Given the description of an element on the screen output the (x, y) to click on. 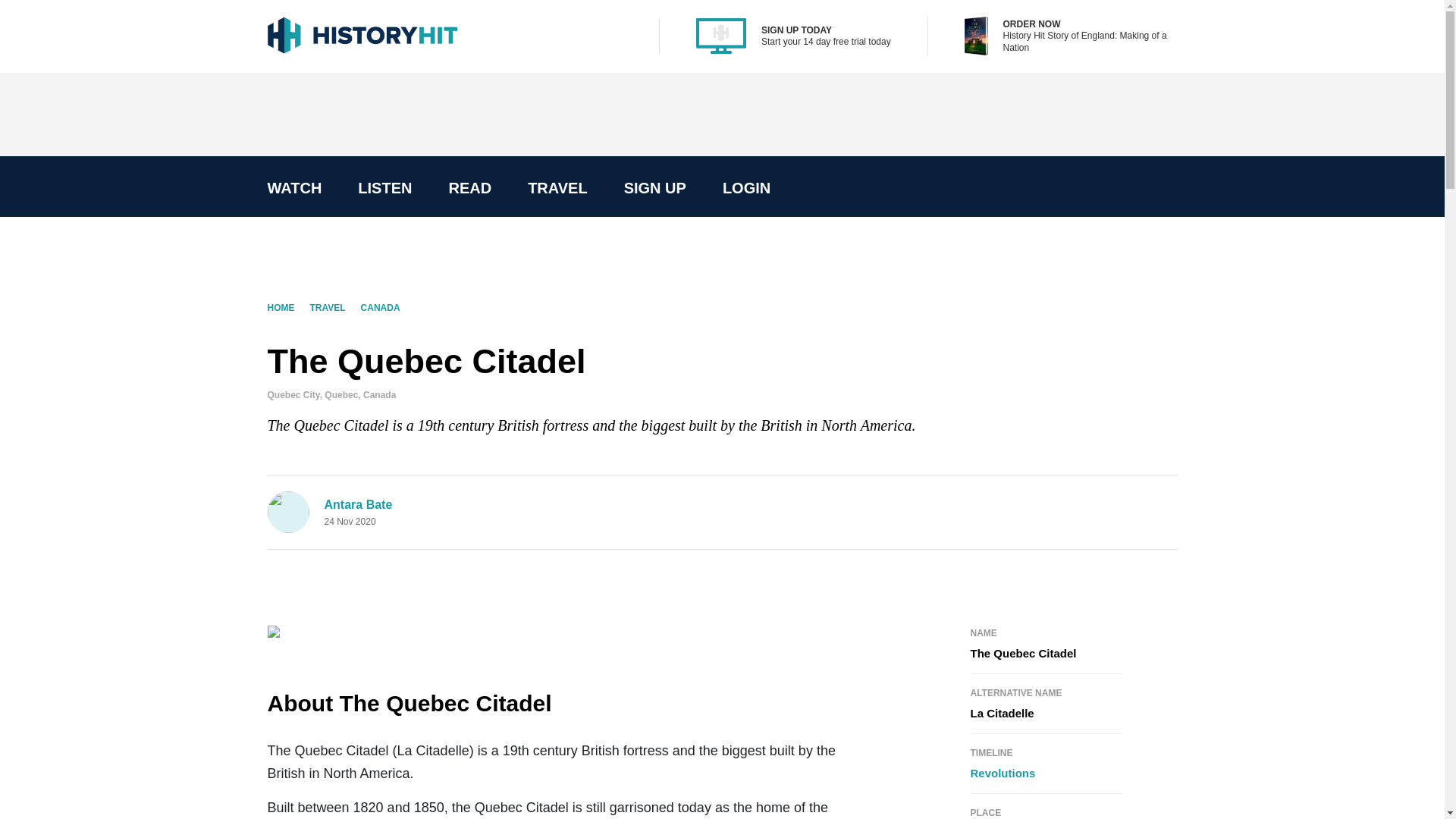
ORDER NOW (1031, 23)
History Hit Story of England: Making of a Nation (1089, 41)
WATCH (293, 187)
Start your 14 day free trial today (826, 41)
LISTEN (384, 187)
SIGN UP TODAY (796, 30)
READ (469, 187)
